Given the description of an element on the screen output the (x, y) to click on. 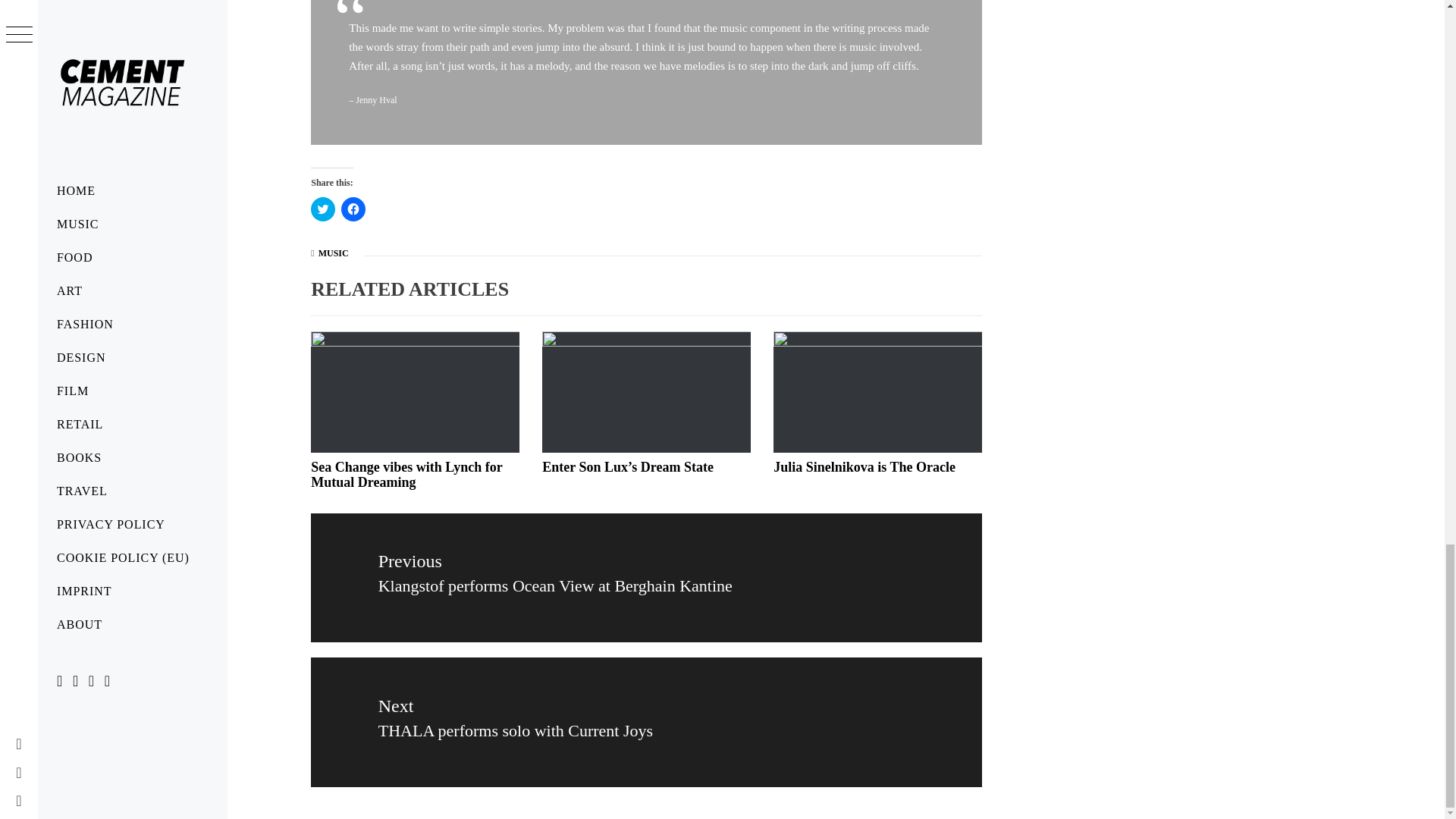
Click to share on Facebook (352, 209)
MUSIC (333, 253)
Click to share on Twitter (322, 209)
